Given the description of an element on the screen output the (x, y) to click on. 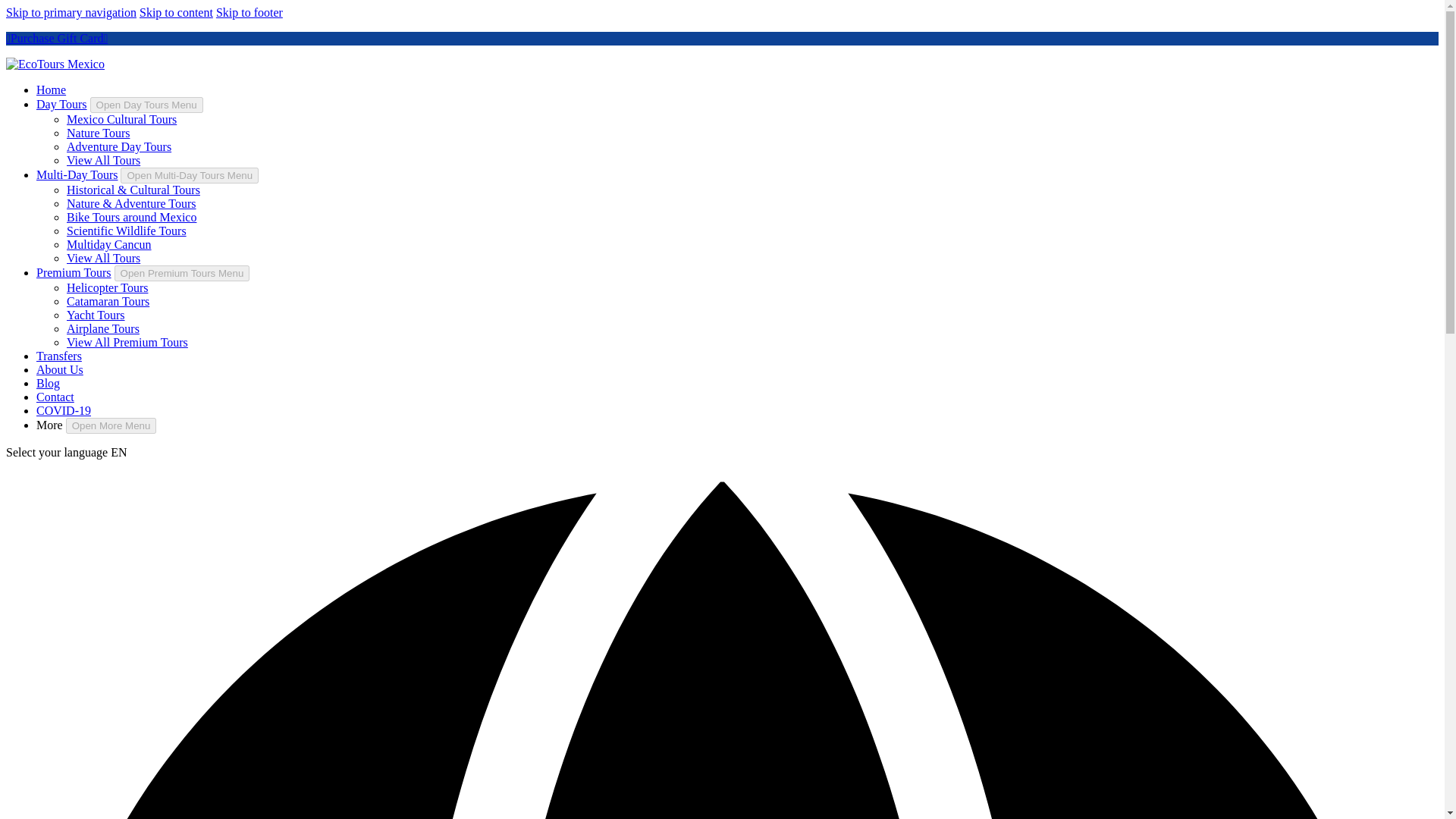
Blog (47, 382)
Skip to primary navigation (70, 11)
Open Day Tours Menu (146, 105)
More (49, 424)
Day Tours (61, 103)
Premium Tours (74, 272)
Multi-Day Tours (76, 174)
Helicopter Tours (107, 287)
Scientific Wildlife Tours (126, 230)
Open More Menu (111, 425)
